Given the description of an element on the screen output the (x, y) to click on. 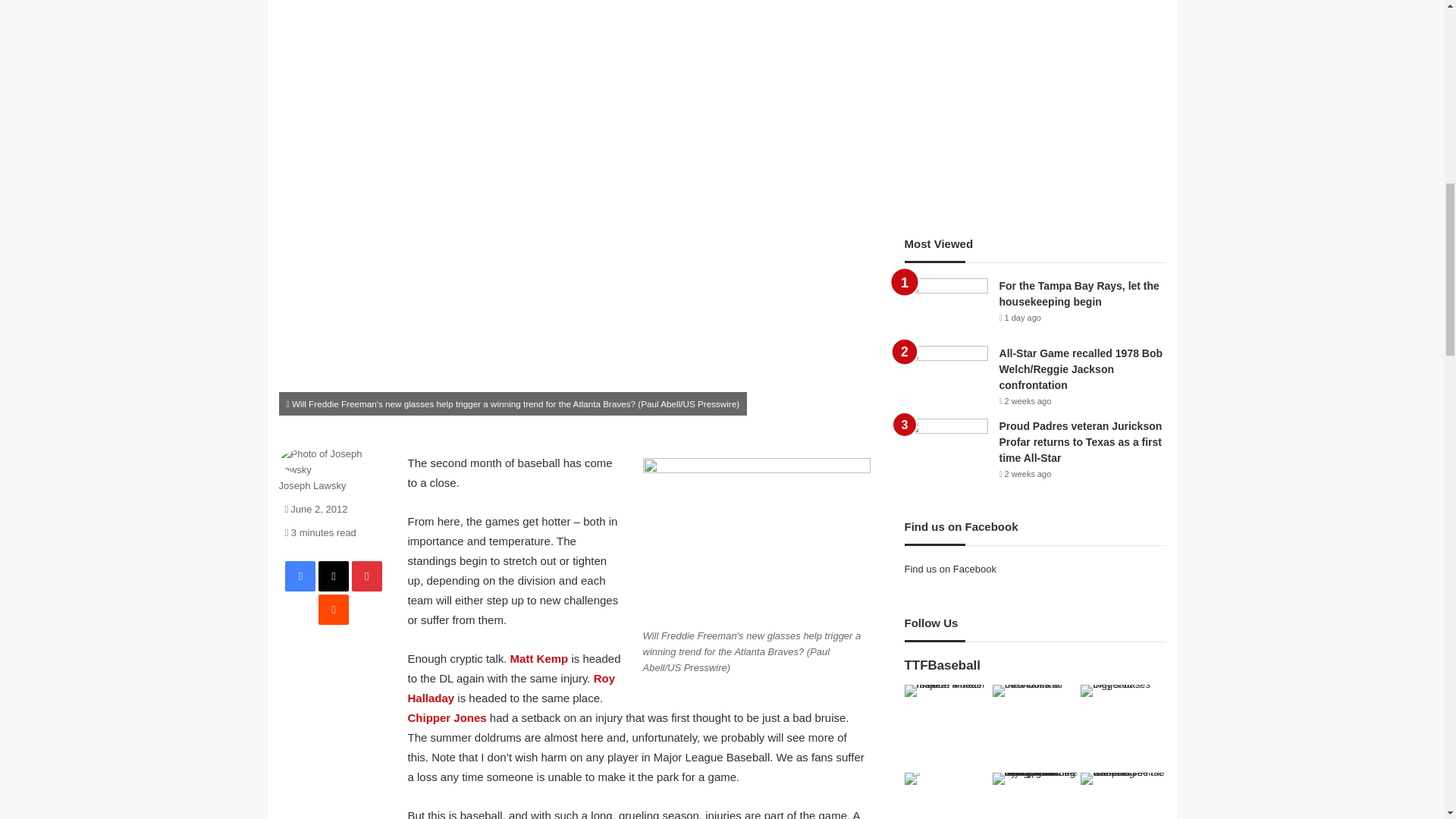
X (333, 576)
Joseph Lawsky (312, 485)
Reddit (333, 609)
Facebook (300, 576)
Pinterest (366, 576)
Freemans-new-shades-help-Braves-beat-Cards-I41J3BN5-x-large (756, 540)
